Given the description of an element on the screen output the (x, y) to click on. 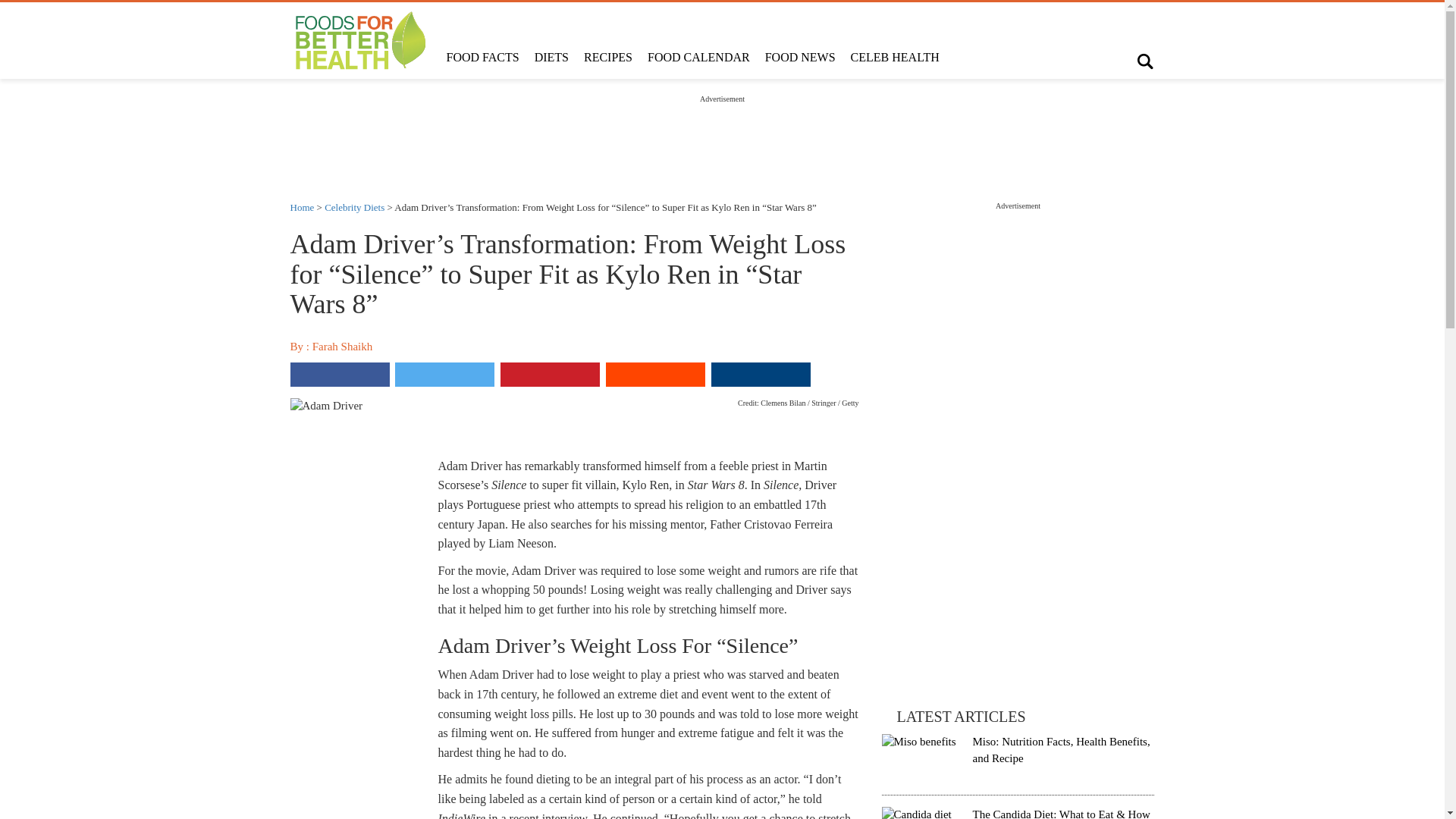
FOOD FACTS (481, 57)
Celebrity Diets (354, 206)
Miso: Nutrition Facts, Health Benefits, and Recipe (1061, 749)
Home (301, 206)
FOOD CALENDAR (698, 57)
CELEB HEALTH (895, 57)
Posts by Farah Shaikh (342, 346)
DIETS (551, 57)
Farah Shaikh (342, 346)
RECIPES (608, 57)
